Given the description of an element on the screen output the (x, y) to click on. 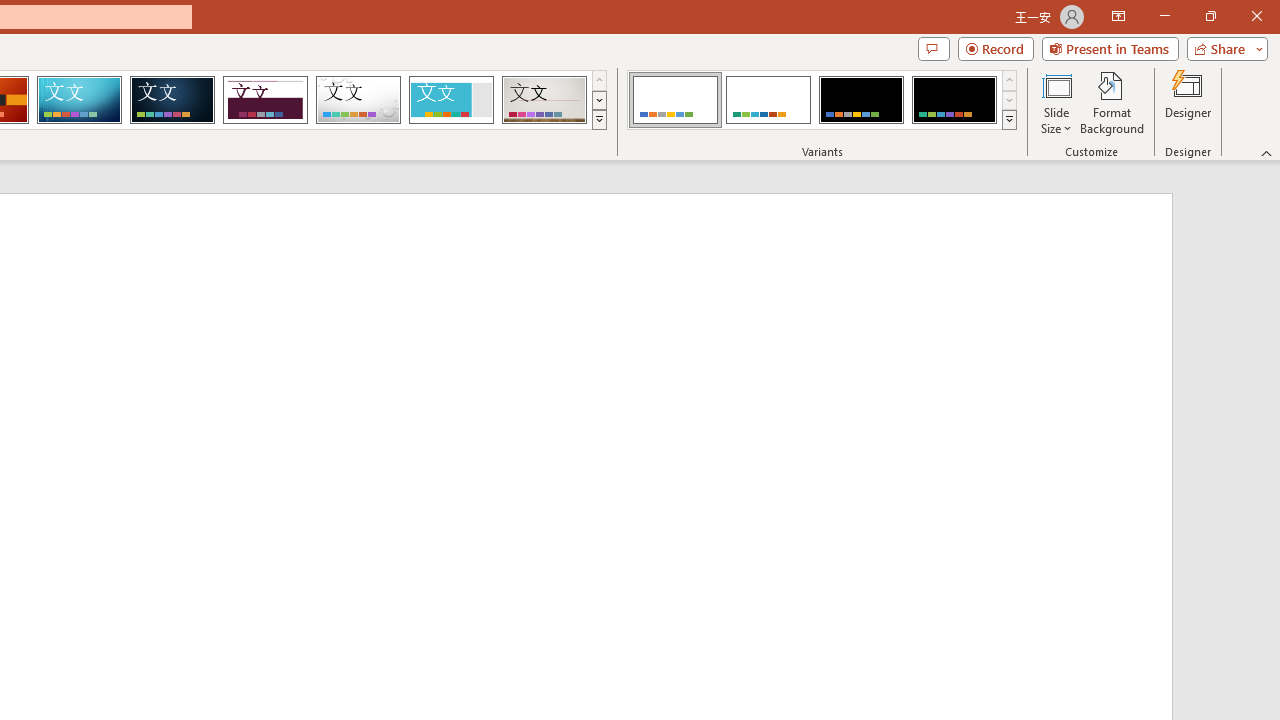
Variants (1009, 120)
Gallery Loading Preview... (544, 100)
Frame Loading Preview... (450, 100)
Circuit Loading Preview... (79, 100)
